Given the description of an element on the screen output the (x, y) to click on. 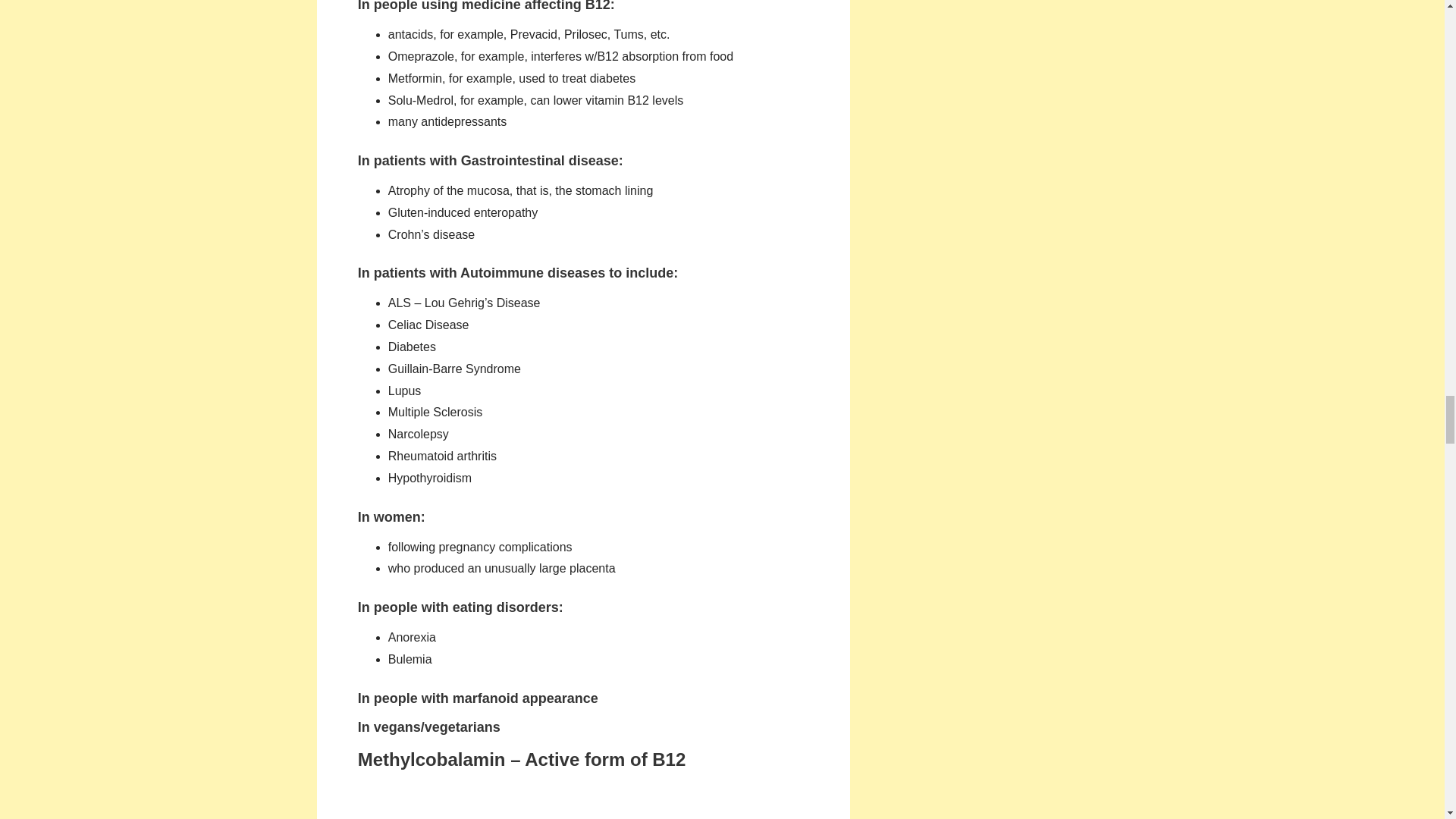
Supplement Facts - Methylcobalamin - 5000 mcg (582, 801)
